Given the description of an element on the screen output the (x, y) to click on. 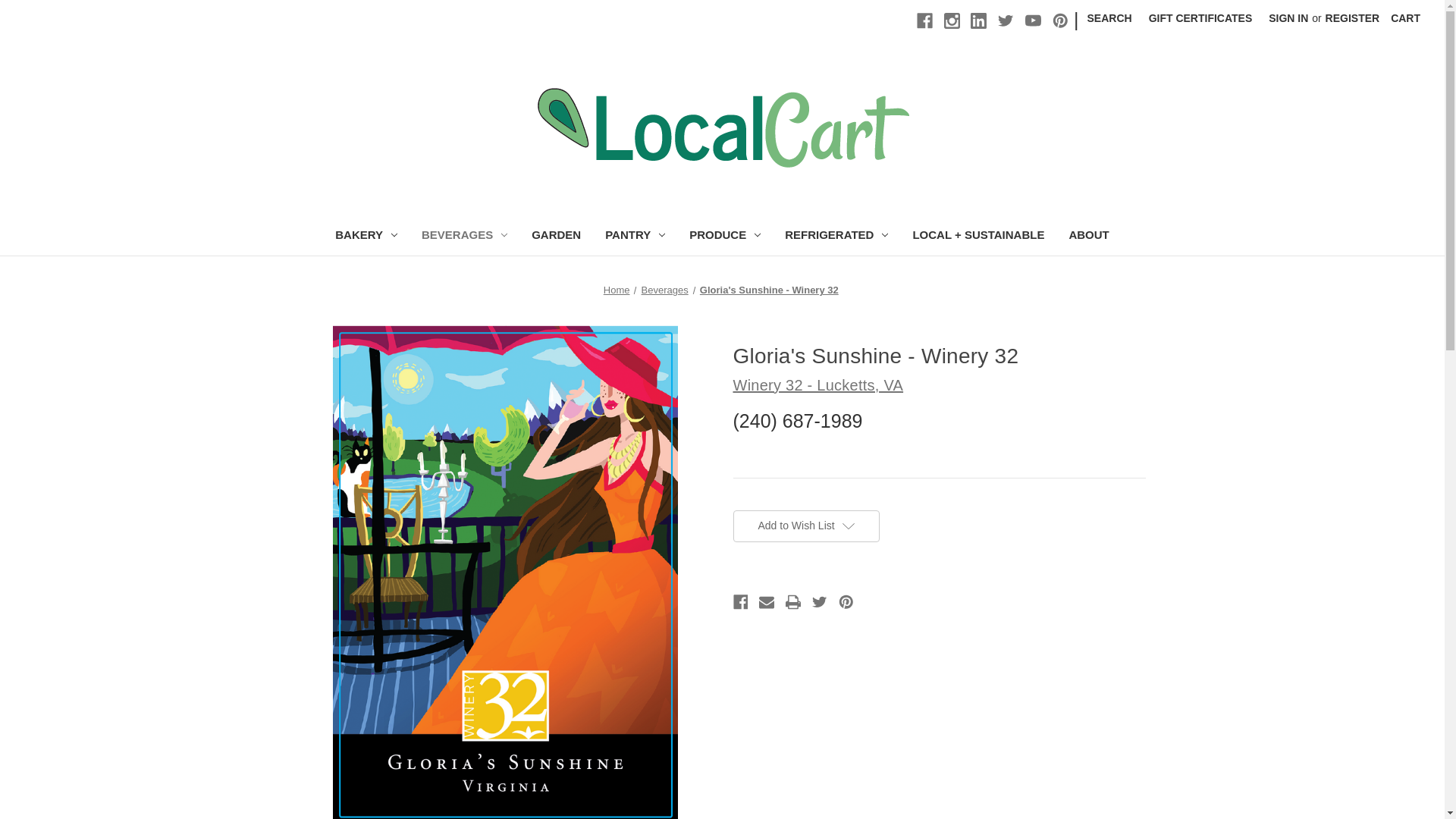
Facebook (925, 20)
Linkedin (979, 20)
BEVERAGES (464, 236)
SIGN IN (1288, 18)
CART (1404, 18)
Instagram (951, 20)
BAKERY (366, 236)
GIFT CERTIFICATES (1200, 18)
Pinterest (1060, 20)
Twitter (1005, 20)
REGISTER (1353, 18)
localcart.net (721, 125)
SEARCH (1109, 18)
Youtube (1033, 20)
